Given the description of an element on the screen output the (x, y) to click on. 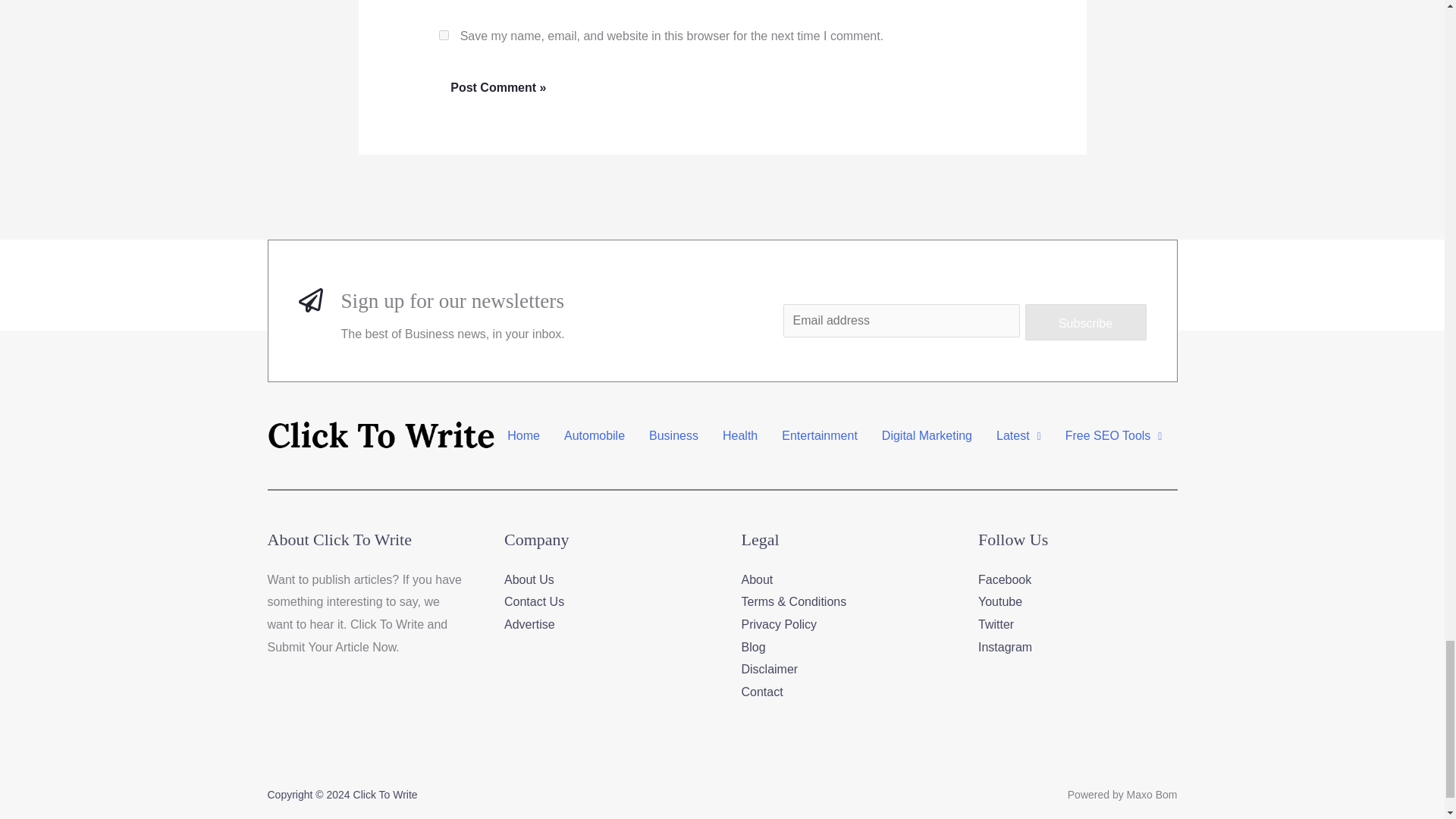
yes (443, 35)
